Given the description of an element on the screen output the (x, y) to click on. 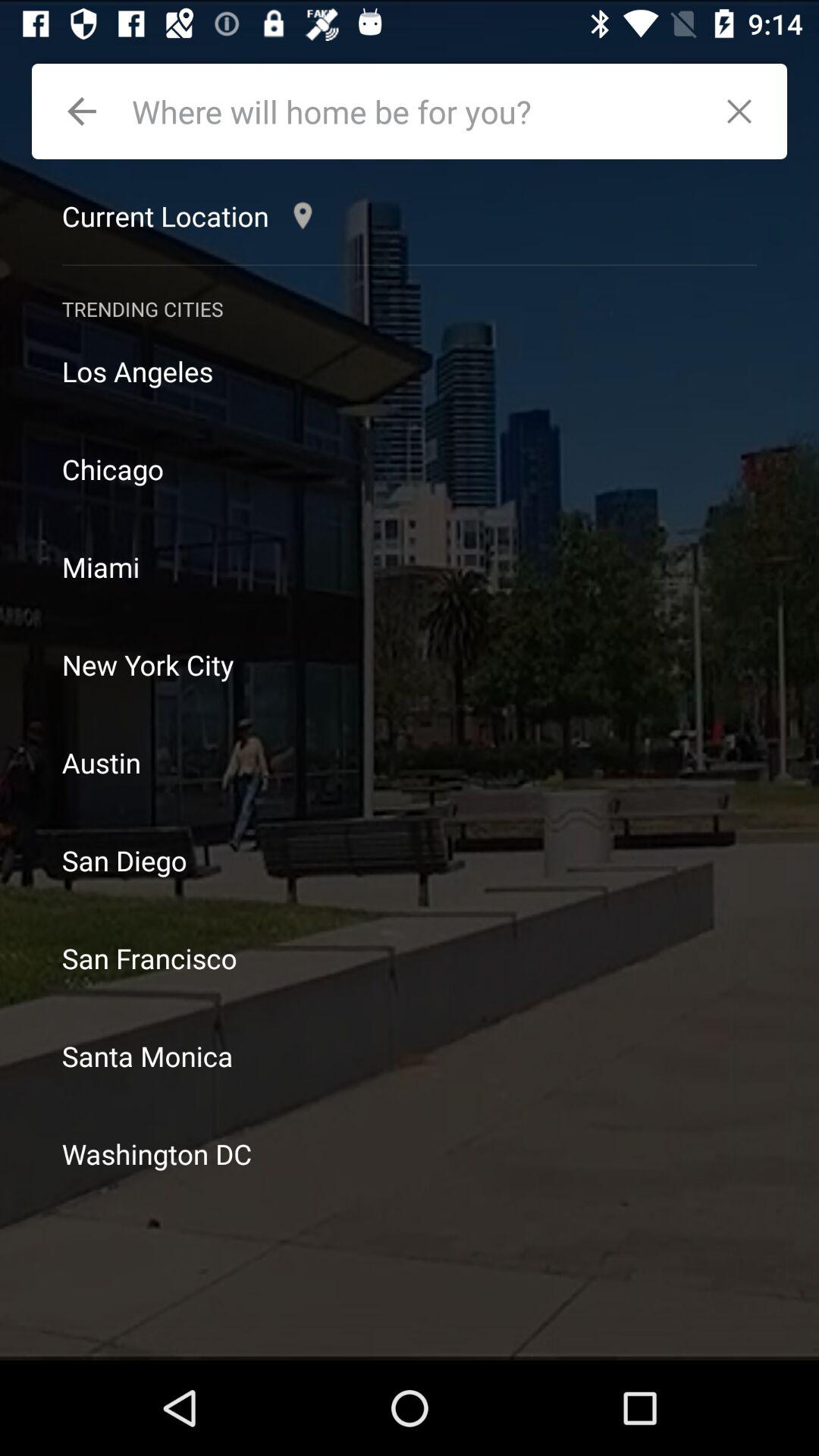
open item above the san diego item (409, 762)
